Given the description of an element on the screen output the (x, y) to click on. 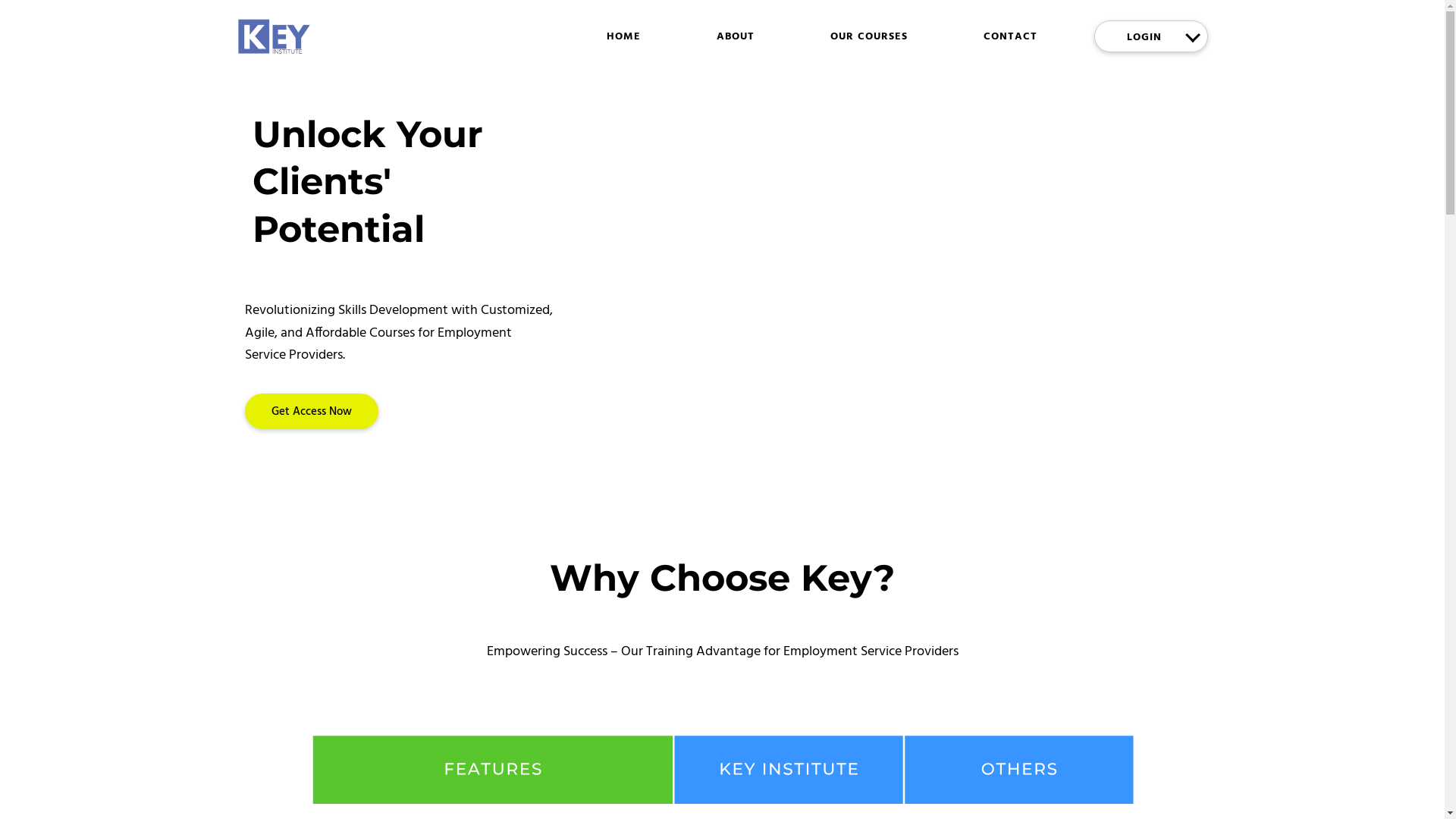
Get Access Now Element type: text (310, 411)
HOME Element type: text (622, 35)
CONTACT Element type: text (1010, 35)
ABOUT Element type: text (735, 35)
LOGIN Element type: text (1147, 36)
OUR COURSES Element type: text (868, 35)
